Given the description of an element on the screen output the (x, y) to click on. 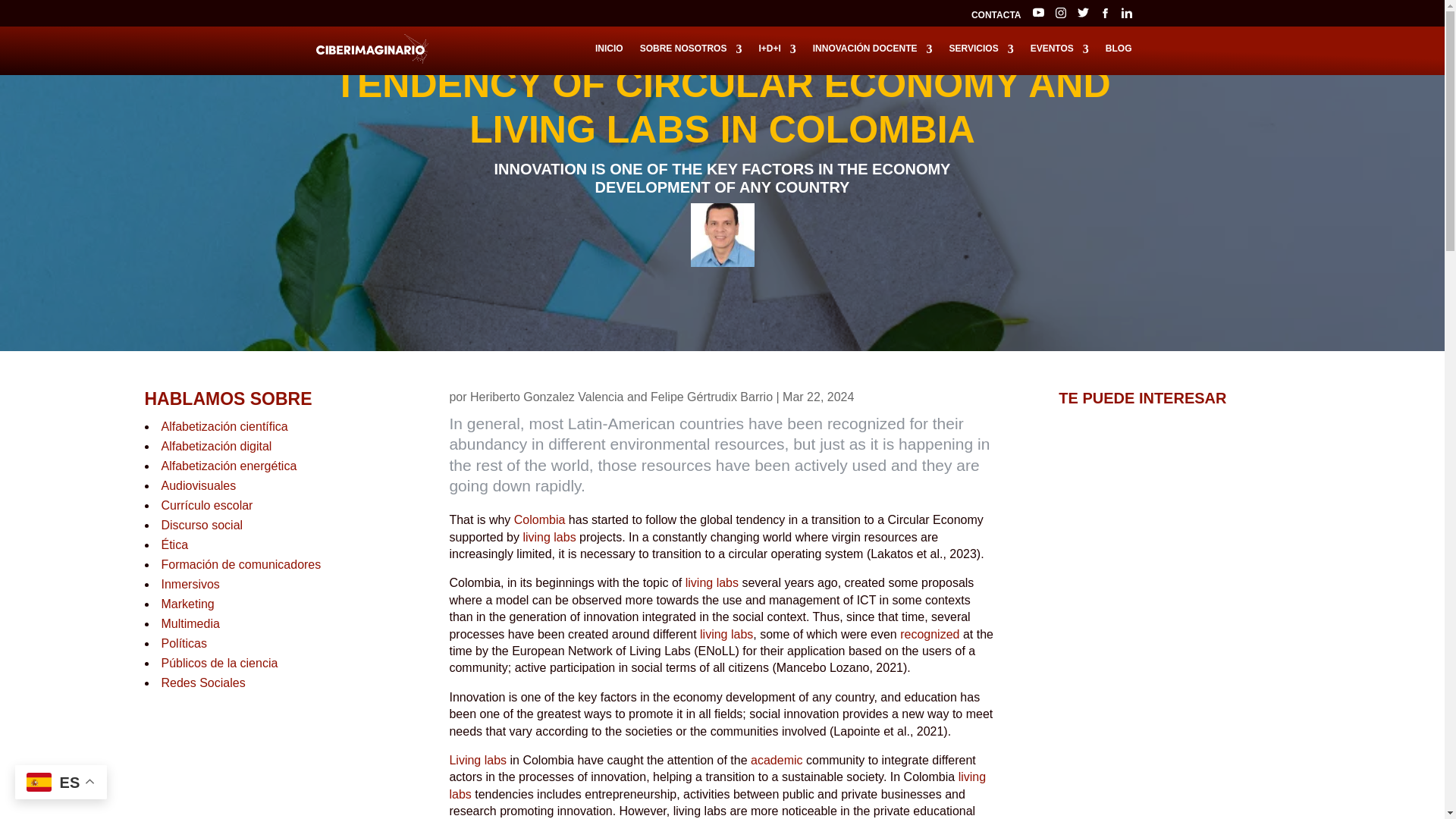
Inmersivos (189, 584)
Discurso social (201, 524)
EVENTOS (1059, 59)
Audiovisuales (197, 485)
CONTACTA (996, 18)
SERVICIOS (981, 59)
SOBRE NOSOTROS (691, 59)
